Given the description of an element on the screen output the (x, y) to click on. 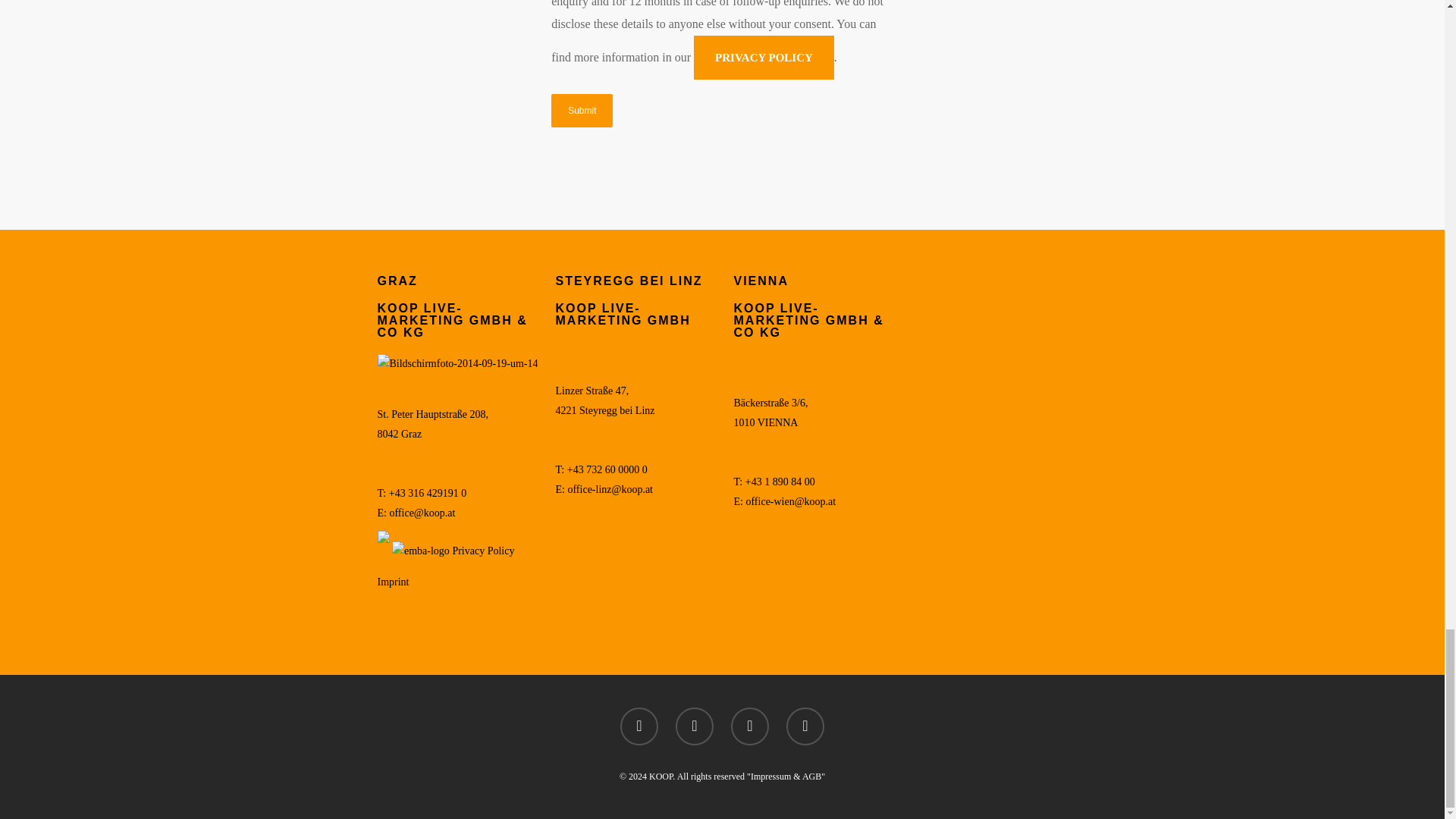
Imprint (393, 582)
GDPR (482, 550)
Submit (581, 110)
